Given the description of an element on the screen output the (x, y) to click on. 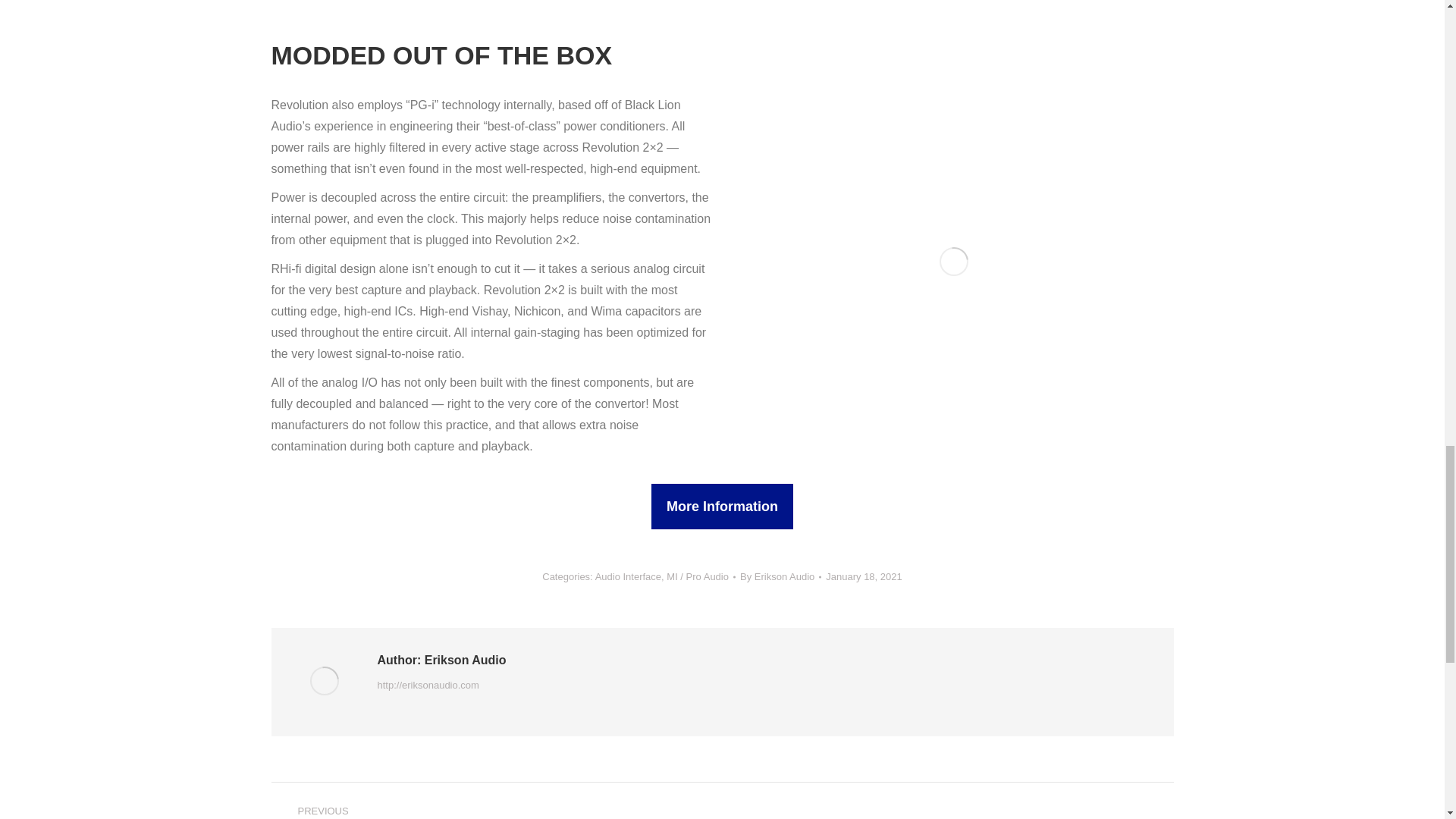
By Erikson Audio (780, 576)
View all posts by Erikson Audio (780, 576)
More Information (721, 506)
January 18, 2021 (863, 576)
Audio Interface (628, 576)
11:38 am (863, 576)
